Given the description of an element on the screen output the (x, y) to click on. 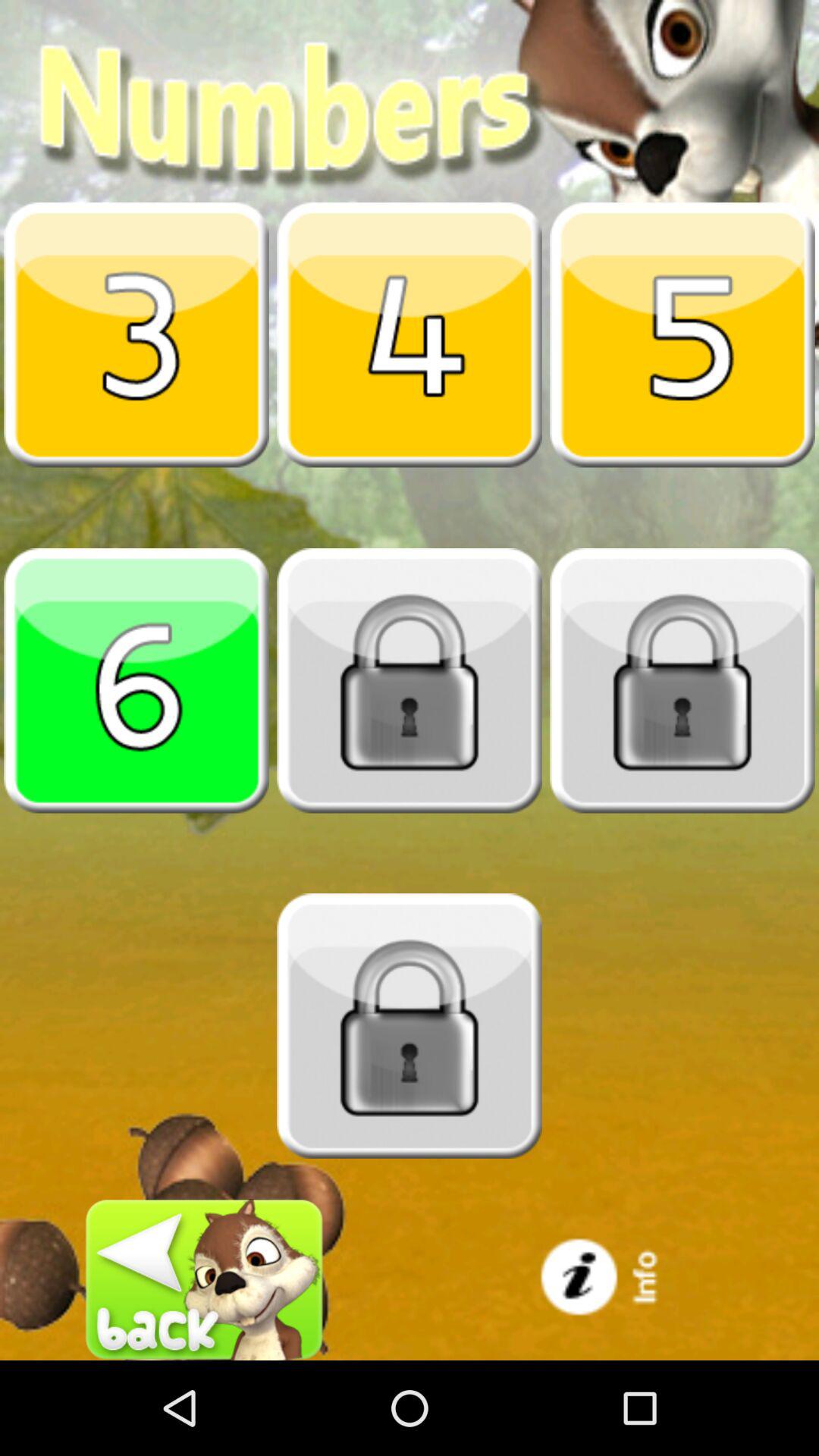
open (682, 334)
